Given the description of an element on the screen output the (x, y) to click on. 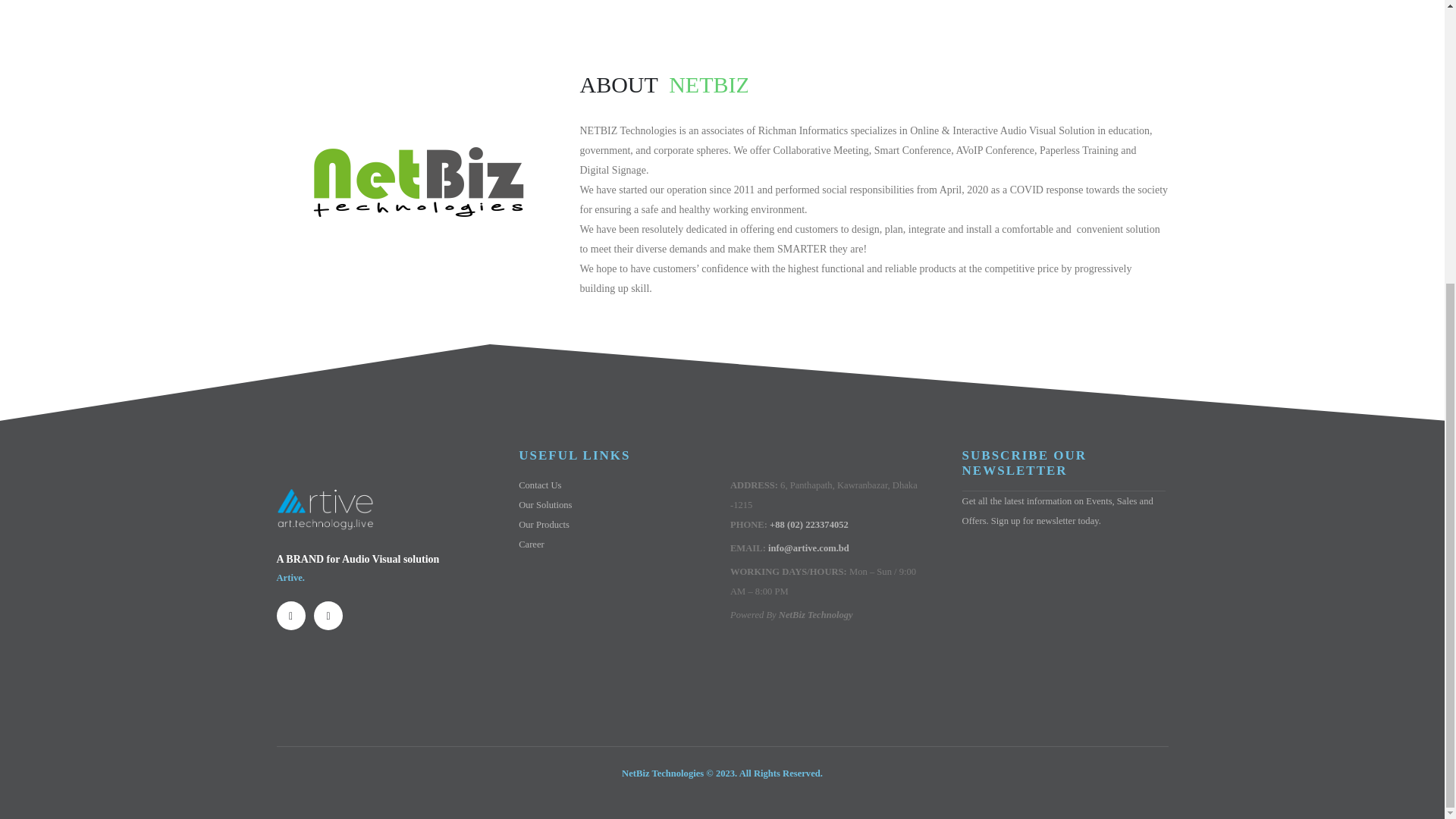
Facebook (290, 615)
LinkedIn (328, 615)
